Given the description of an element on the screen output the (x, y) to click on. 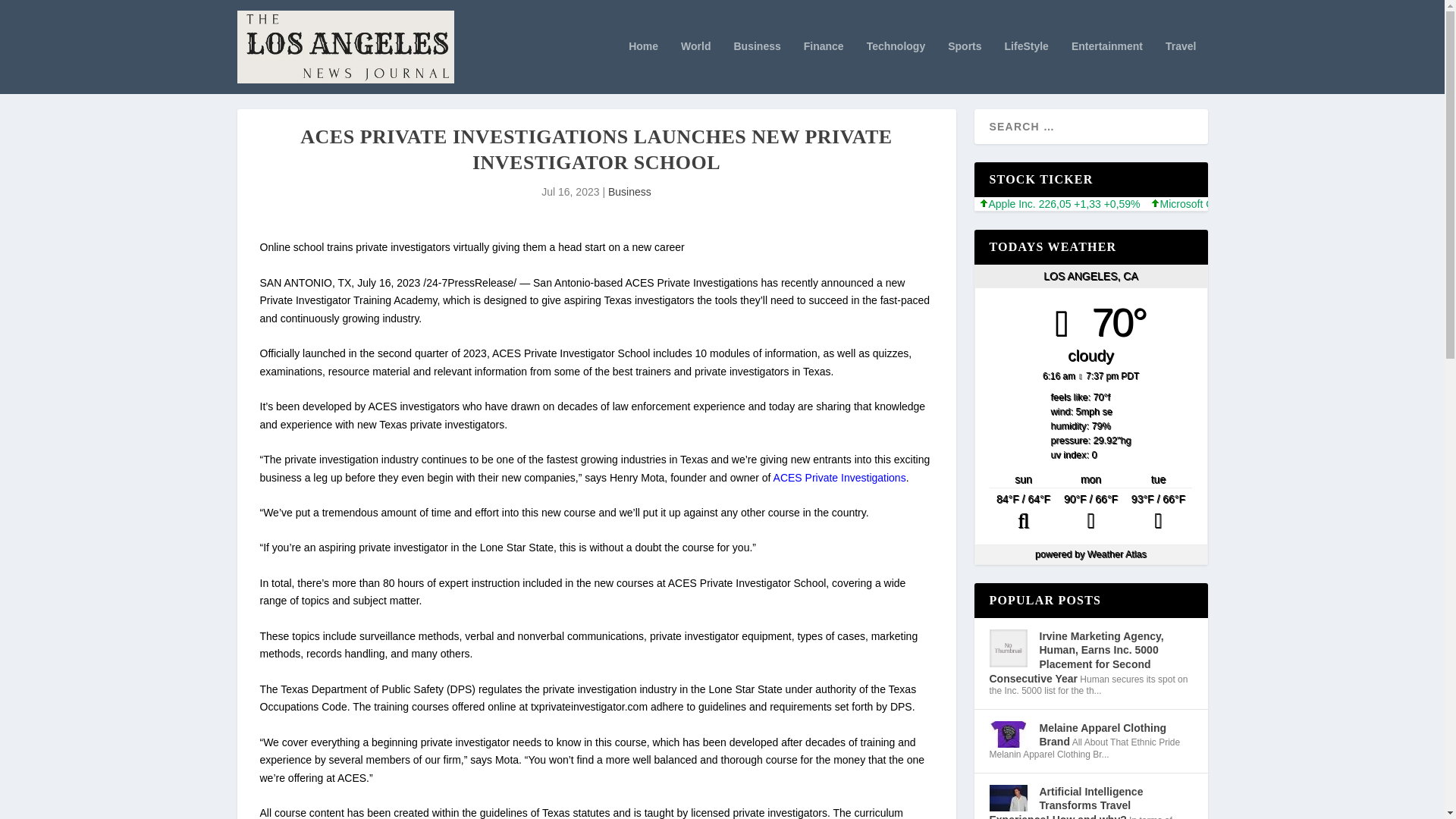
Entertainment (1106, 67)
ACES Private Investigations (839, 477)
Sunny (1158, 512)
Partly Cloudy (1023, 512)
Sunny (1090, 512)
Technology (896, 67)
Business (629, 191)
